Given the description of an element on the screen output the (x, y) to click on. 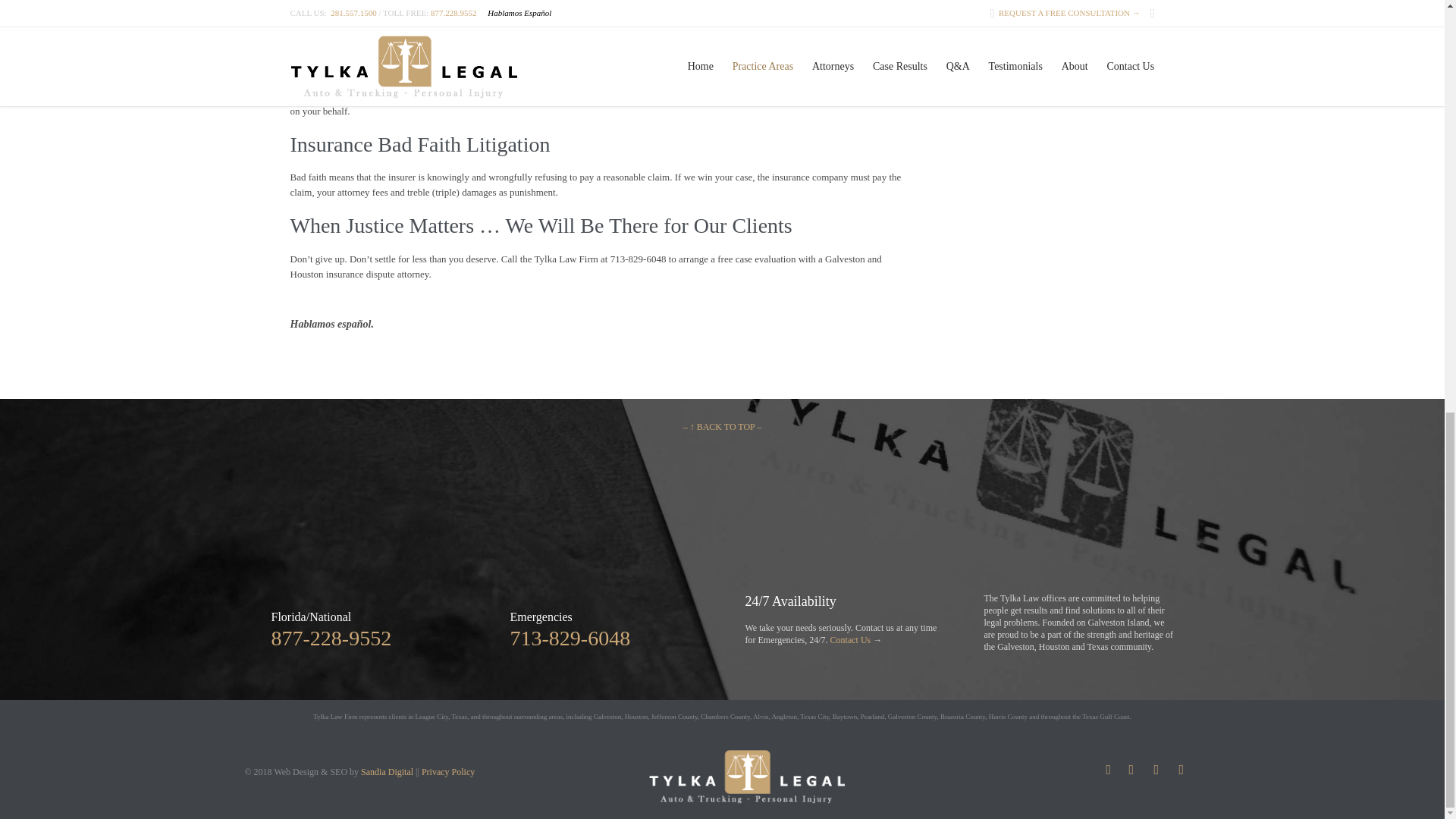
Send (1009, 43)
